Given the description of an element on the screen output the (x, y) to click on. 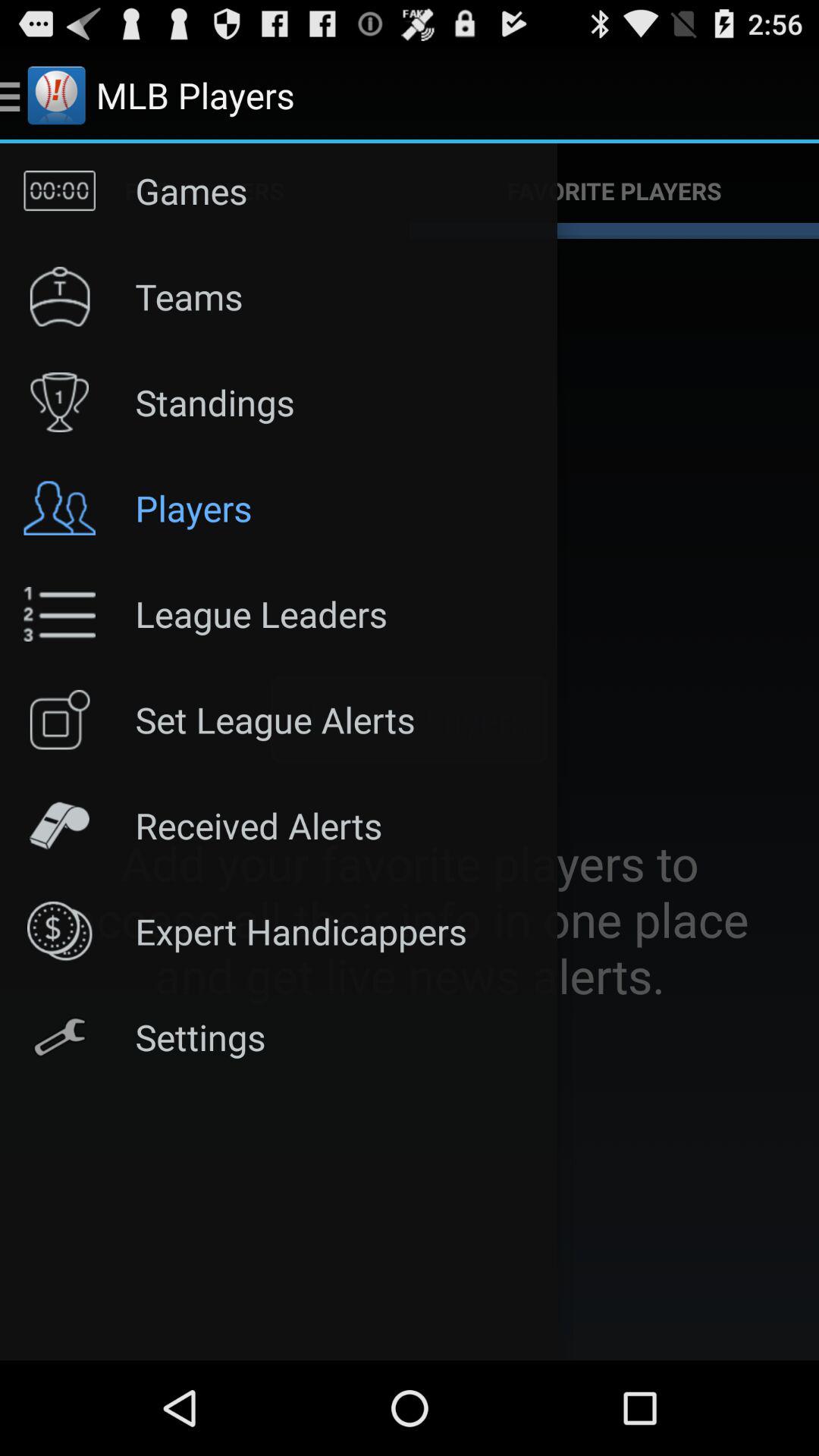
click on the icon beside teams (59, 296)
